Given the description of an element on the screen output the (x, y) to click on. 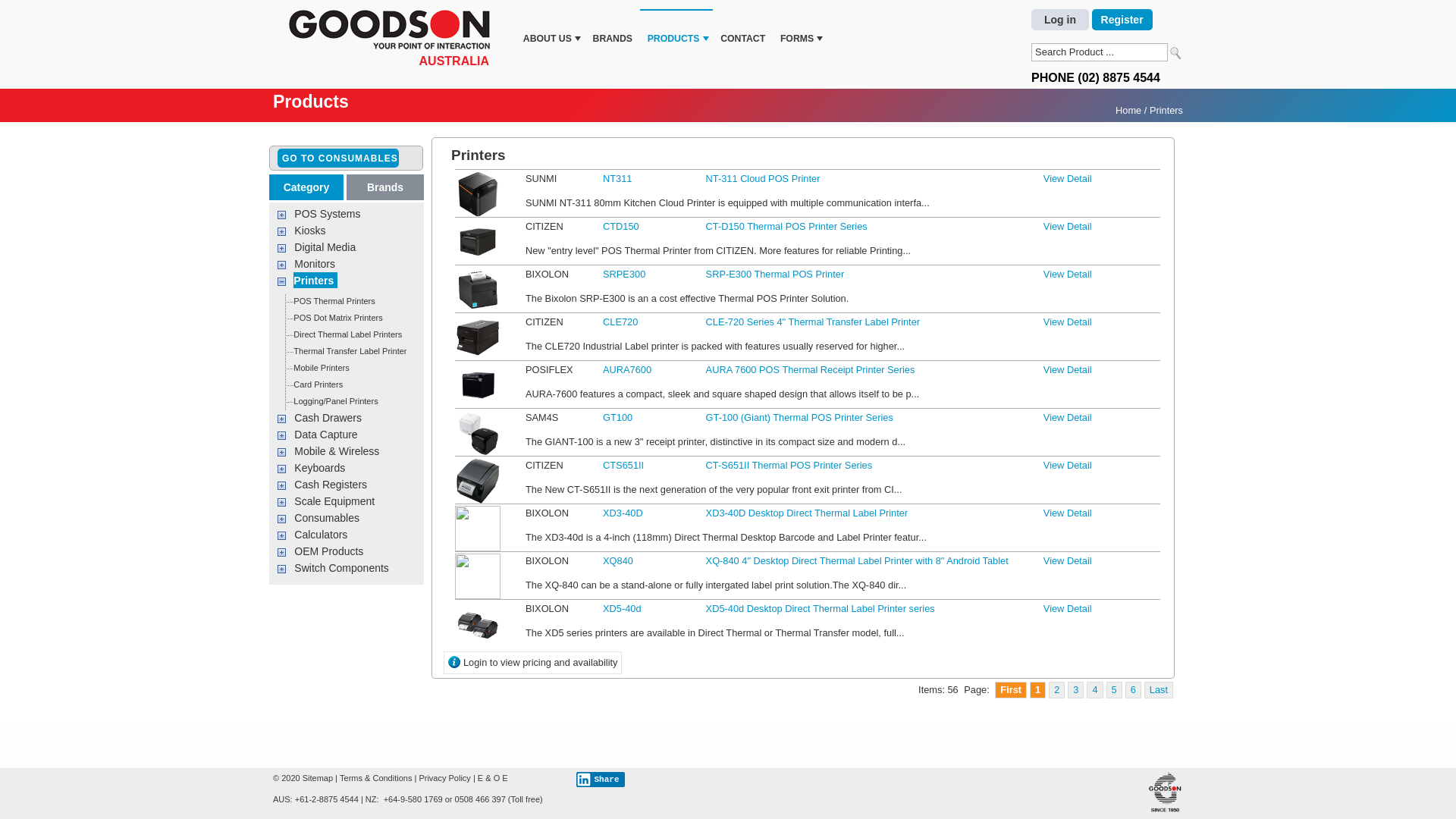
CT-S651II Thermal POS Printer Series Element type: text (789, 464)
SRP-E300 Thermal POS Printer Element type: text (775, 273)
SRP-E300 Thermal POS Printer Element type: hover (477, 289)
POS Systems Element type: text (327, 213)
View Detail Element type: text (1067, 608)
AURA 7600 POS Thermal Receipt Printer Series Element type: hover (477, 384)
CTS651II Element type: text (622, 464)
CTD150 Element type: text (620, 226)
XD3-40D Desktop Direct Thermal Label Printer Element type: text (806, 512)
Switch Components Element type: text (342, 568)
Calculators Element type: text (321, 534)
Consumables Element type: text (327, 518)
SRP-E300 Thermal POS Printer Element type: hover (477, 263)
3 Element type: text (1075, 689)
POS Thermal Printers Element type: text (333, 301)
Terms & Conditions Element type: text (375, 777)
NT-311 Cloud POS Printer Element type: hover (477, 193)
5 Element type: text (1114, 689)
FORMS Element type: text (799, 29)
Data Capture Element type: text (326, 434)
Printers Element type: text (1166, 110)
ABOUT US Element type: text (550, 29)
NT311 Element type: text (616, 178)
NT-311 Cloud POS Printer Element type: text (763, 178)
XD5-40d Desktop Direct Thermal Label Printer series Element type: hover (477, 623)
GT-100 (Giant) Thermal POS Printer Series Element type: hover (477, 432)
GT-100 (Giant) Thermal POS Printer Series Element type: hover (477, 406)
Privacy Policy Element type: text (444, 777)
View Detail Element type: text (1067, 369)
Home Element type: text (1128, 110)
Scale Equipment Element type: text (334, 501)
XD3-40D Desktop Direct Thermal Label Printer Element type: hover (477, 528)
OEM Products Element type: text (329, 551)
Keyboards Element type: text (320, 467)
Category Element type: text (307, 187)
Brands Element type: text (384, 187)
Thermal Transfer Label Printer Element type: text (349, 351)
SRPE300 Element type: text (623, 273)
PRODUCTS Element type: text (676, 29)
View Detail Element type: text (1067, 512)
Digital Media Element type: text (325, 247)
NT-311 Cloud POS Printer Element type: hover (477, 167)
AURA 7600 POS Thermal Receipt Printer Series Element type: text (810, 369)
Card Printers Element type: text (318, 384)
View Detail Element type: text (1067, 417)
6 Element type: text (1133, 689)
CT-D150 Thermal POS Printer Series Element type: hover (477, 215)
XD3-40D Element type: text (622, 512)
Monitors Element type: text (315, 264)
Logging/Panel Printers Element type: text (335, 401)
Goodson Imports Element type: hover (394, 31)
View Detail Element type: text (1067, 273)
BRANDS Element type: text (612, 29)
POS Dot Matrix Printers Element type: text (337, 317)
CLE720 Element type: text (619, 321)
GT100 Element type: text (617, 417)
Last Element type: text (1158, 689)
View Detail Element type: text (1067, 178)
Mobile Printers Element type: text (321, 367)
CONTACT Element type: text (742, 29)
Printers Element type: text (315, 280)
Cash Registers Element type: text (331, 484)
CT-S651II Thermal POS Printer Series Element type: hover (477, 454)
XD5-40d Element type: text (621, 608)
CLE-720 Series 4" Thermal Transfer Label Printer Element type: text (812, 321)
XD3-40D Desktop Direct Thermal Label Printer Element type: hover (477, 502)
Share Element type: text (600, 779)
CT-D150 Thermal POS Printer Series Element type: hover (477, 241)
GT-100 (Giant) Thermal POS Printer Series Element type: text (799, 417)
Go to Consumables Element type: text (337, 157)
Cash Drawers Element type: text (328, 417)
XD5-40d Desktop Direct Thermal Label Printer series Element type: text (820, 608)
XD5-40d Desktop Direct Thermal Label Printer series Element type: hover (477, 597)
View Detail Element type: text (1067, 464)
4 Element type: text (1094, 689)
View Detail Element type: text (1067, 560)
View Detail Element type: text (1067, 226)
Kiosks Element type: text (310, 230)
View Detail Element type: text (1067, 321)
Mobile & Wireless Element type: text (337, 451)
CT-S651II Thermal POS Printer Series Element type: hover (477, 480)
Sitemap Element type: text (317, 777)
Direct Thermal Label Printers Element type: text (347, 334)
CLE-720 Series 4" Thermal Transfer Label Printer Element type: hover (477, 337)
Register Element type: text (1122, 19)
CLE-720 Series 4" Thermal Transfer Label Printer Element type: hover (477, 310)
XQ840 Element type: text (617, 560)
Log in Element type: text (1059, 19)
AURA 7600 POS Thermal Receipt Printer Series Element type: hover (477, 358)
2 Element type: text (1056, 689)
AURA7600 Element type: text (626, 369)
CT-D150 Thermal POS Printer Series Element type: text (786, 226)
